Given the description of an element on the screen output the (x, y) to click on. 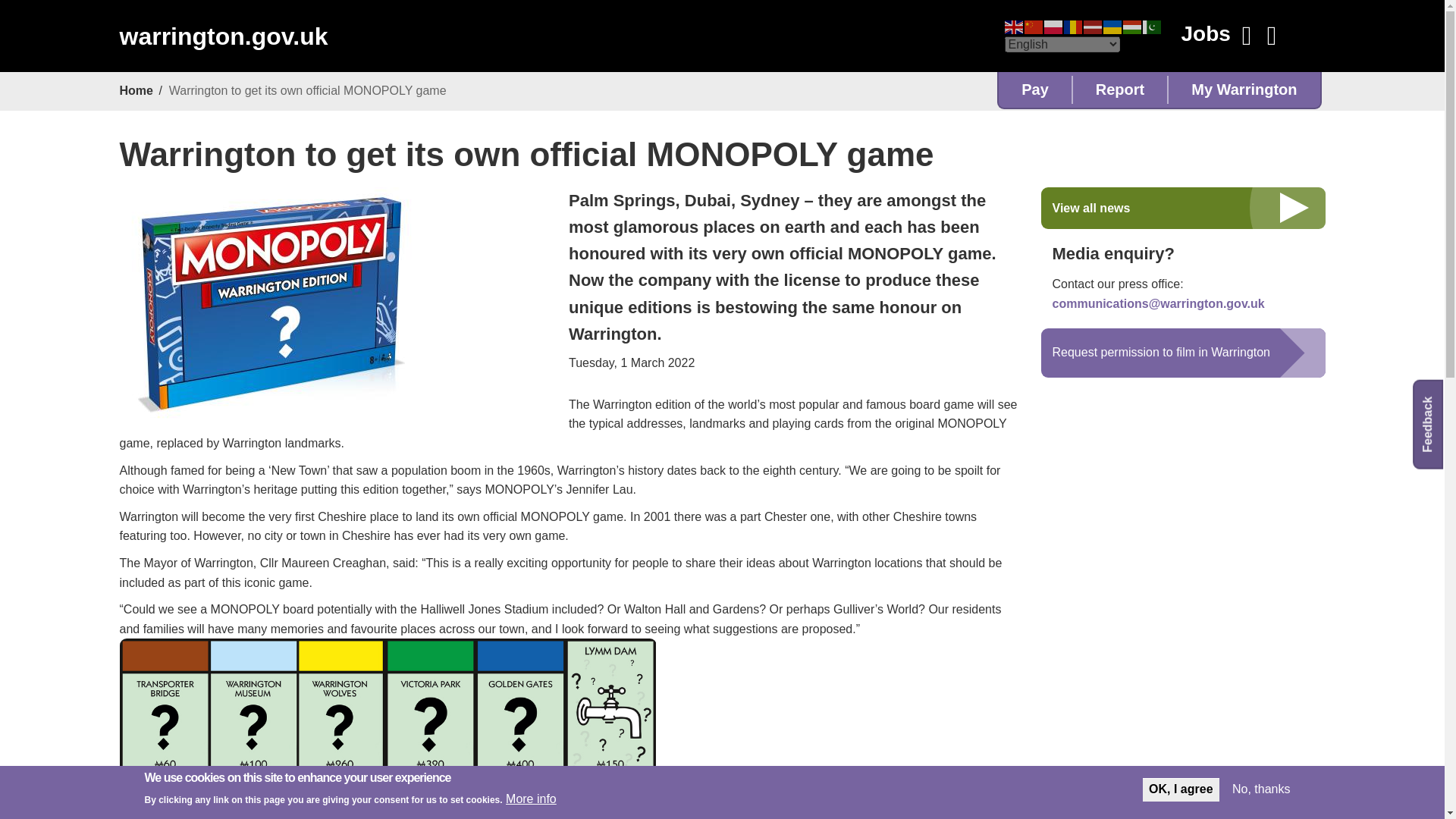
Magyar (1131, 25)
Report (1120, 89)
warrington.gov.uk (223, 36)
Polski (1052, 25)
Jobs (1203, 33)
English (1013, 25)
Pay (1034, 89)
Home (223, 36)
